Given the description of an element on the screen output the (x, y) to click on. 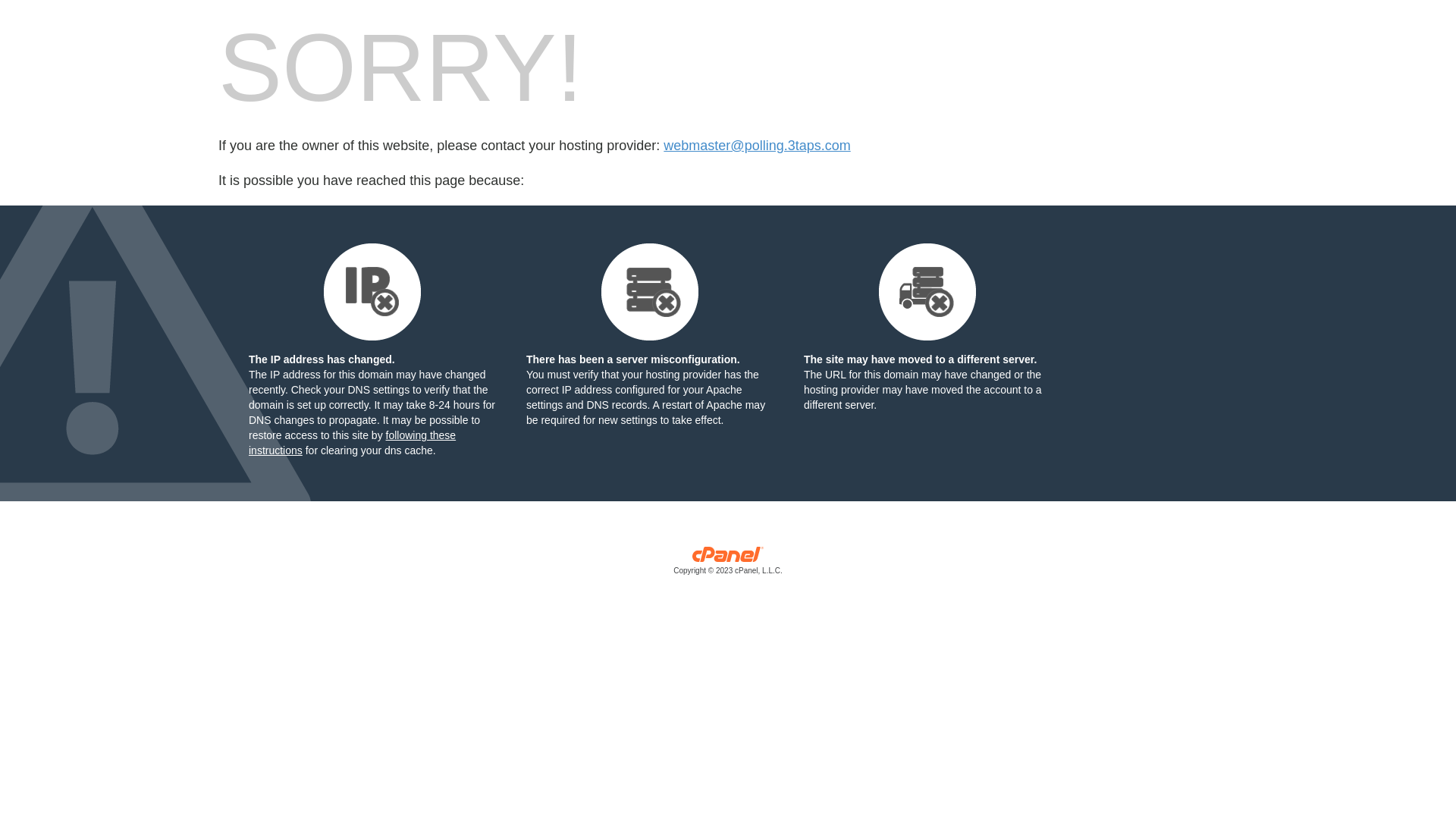
webmaster@polling.3taps.com Element type: text (756, 145)
following these instructions Element type: text (351, 442)
